Given the description of an element on the screen output the (x, y) to click on. 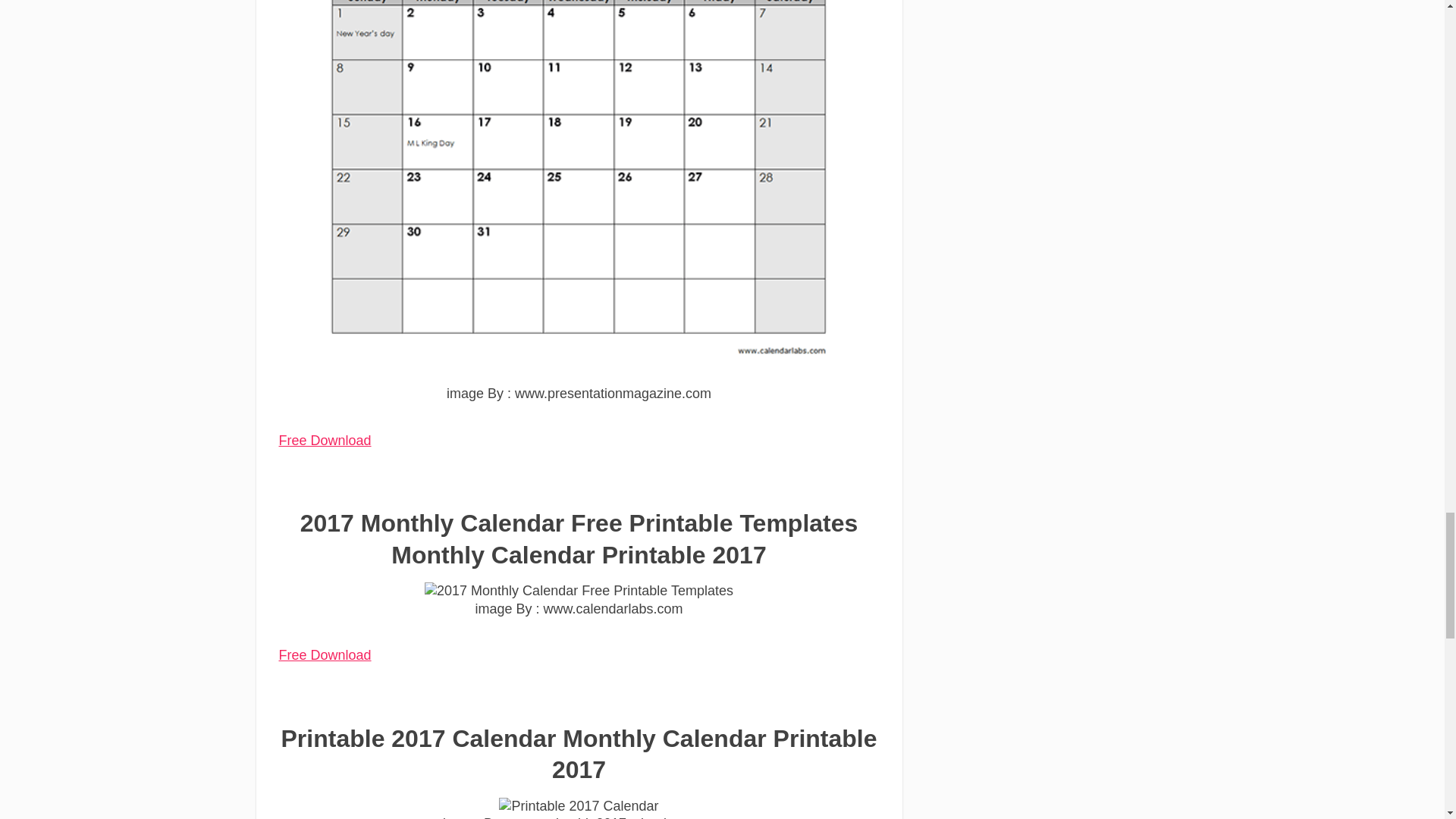
Free Download (325, 440)
2017 Monthly Calendar Free Printable Templates (579, 590)
Printable 2017 Calendar (578, 805)
Free Download (325, 654)
